Given the description of an element on the screen output the (x, y) to click on. 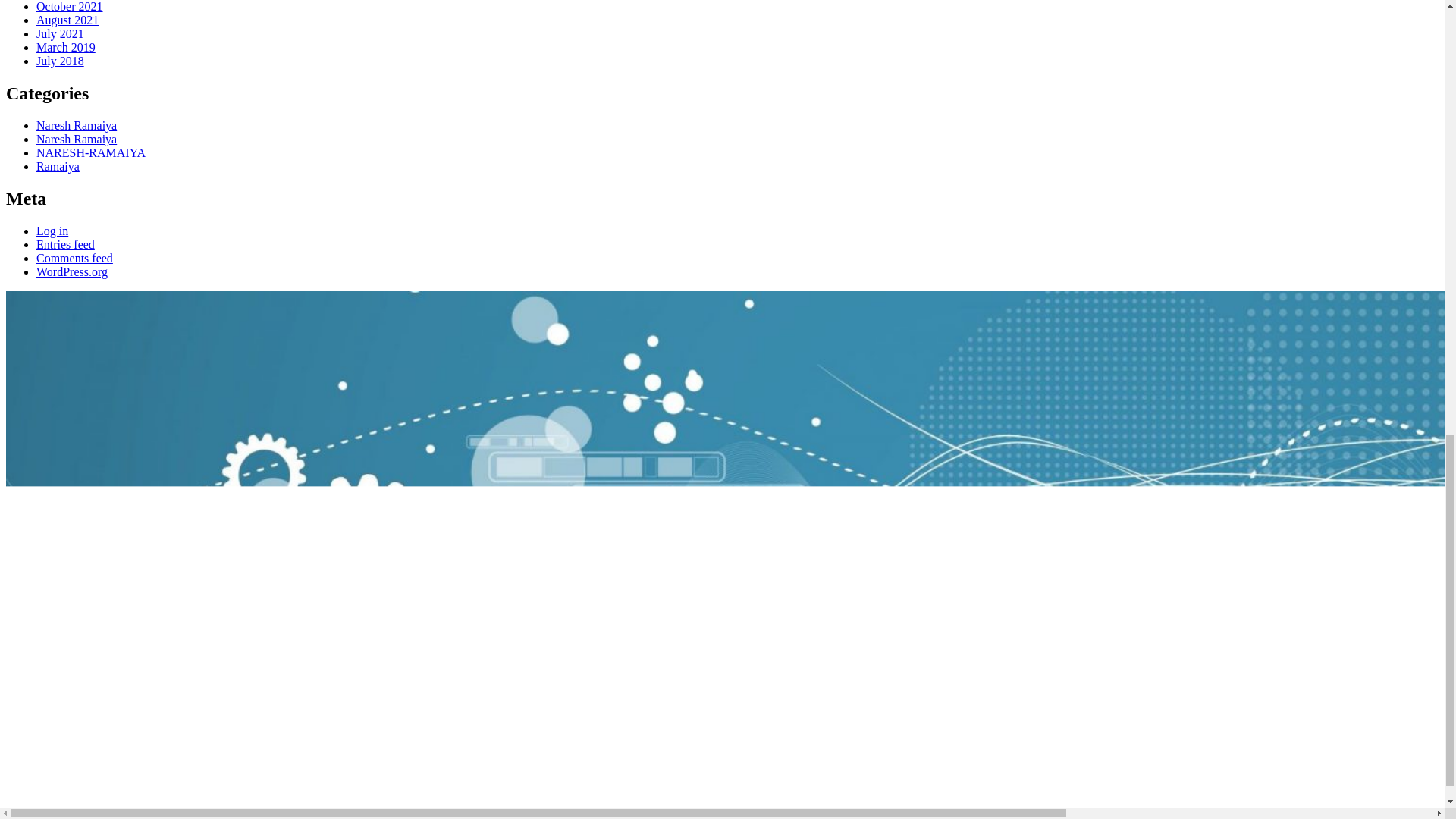
July 2018 (60, 60)
August 2021 (67, 19)
Ramaiya (58, 165)
October 2021 (69, 6)
WordPress.org (71, 271)
Log in (52, 230)
Entries feed (65, 244)
Naresh Ramaiya (76, 138)
Naresh Ramaiya (76, 124)
Comments feed (74, 257)
